Given the description of an element on the screen output the (x, y) to click on. 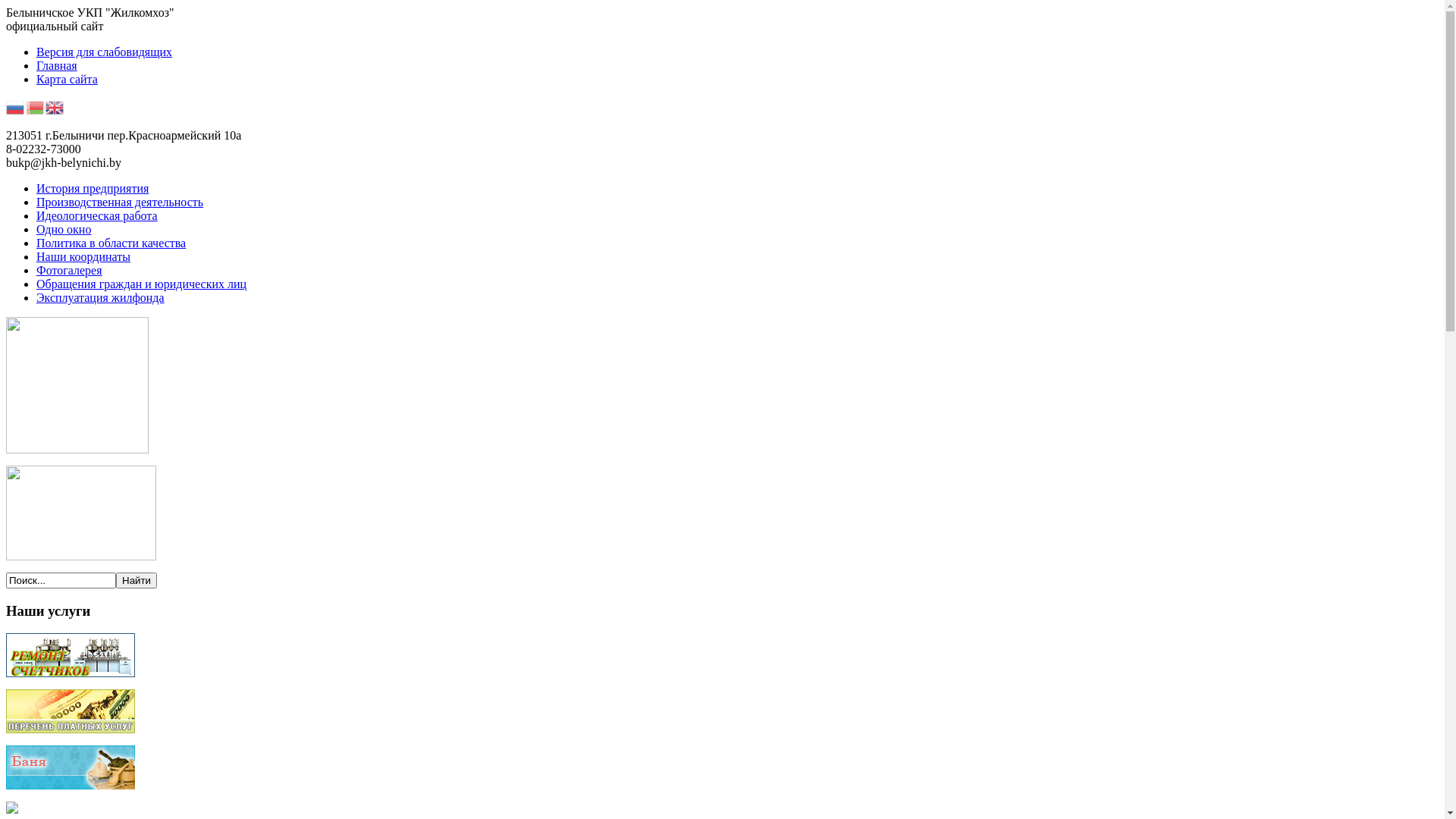
Belarusian Element type: hover (35, 106)
Russian Element type: hover (15, 106)
English Element type: hover (55, 106)
